Given the description of an element on the screen output the (x, y) to click on. 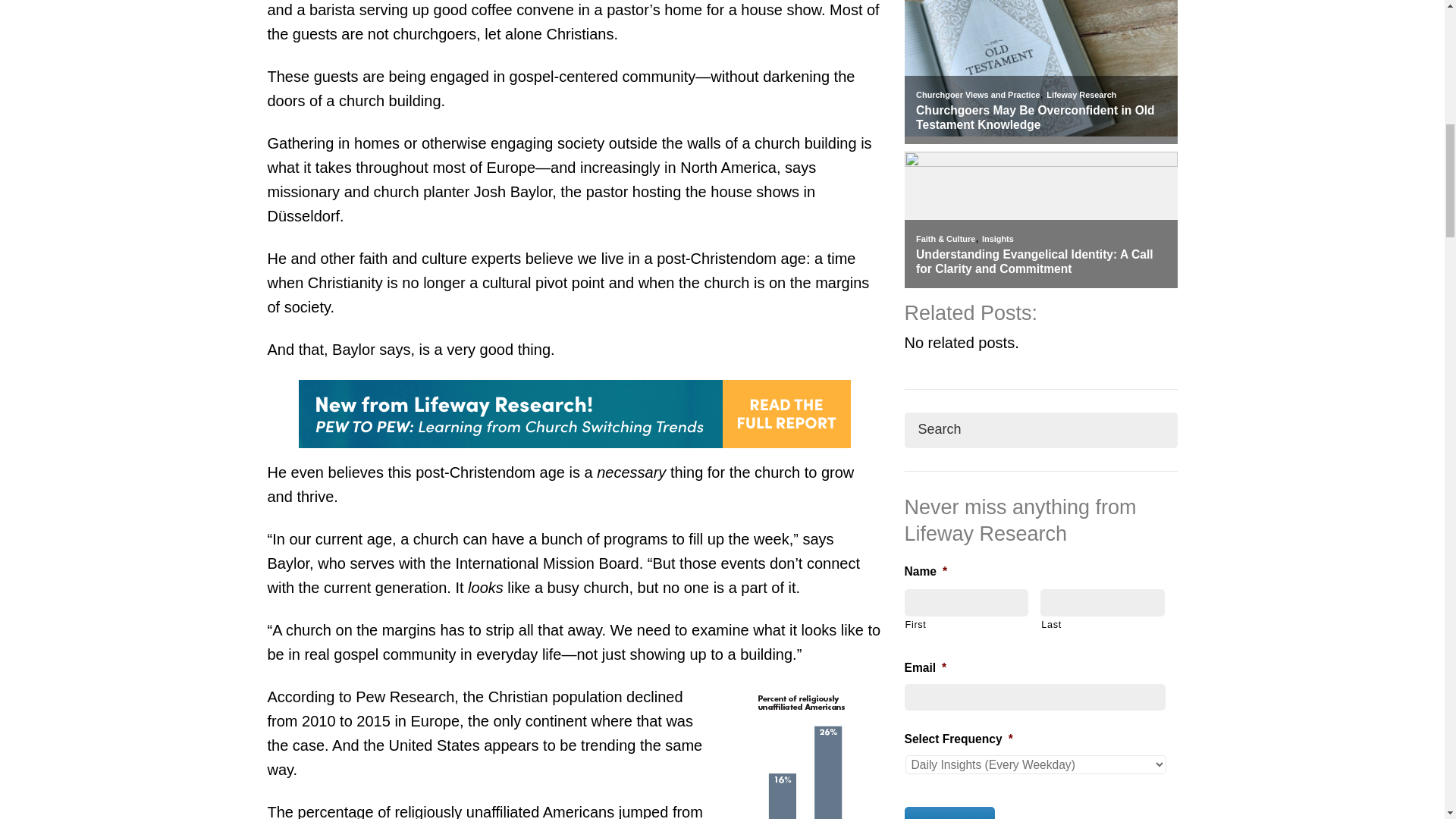
Lifeway Research (1081, 94)
Submit (949, 812)
Churchgoers May Be Overconfident in Old Testament Knowledge (1040, 117)
Churchgoer Views and Practice (977, 94)
